Given the description of an element on the screen output the (x, y) to click on. 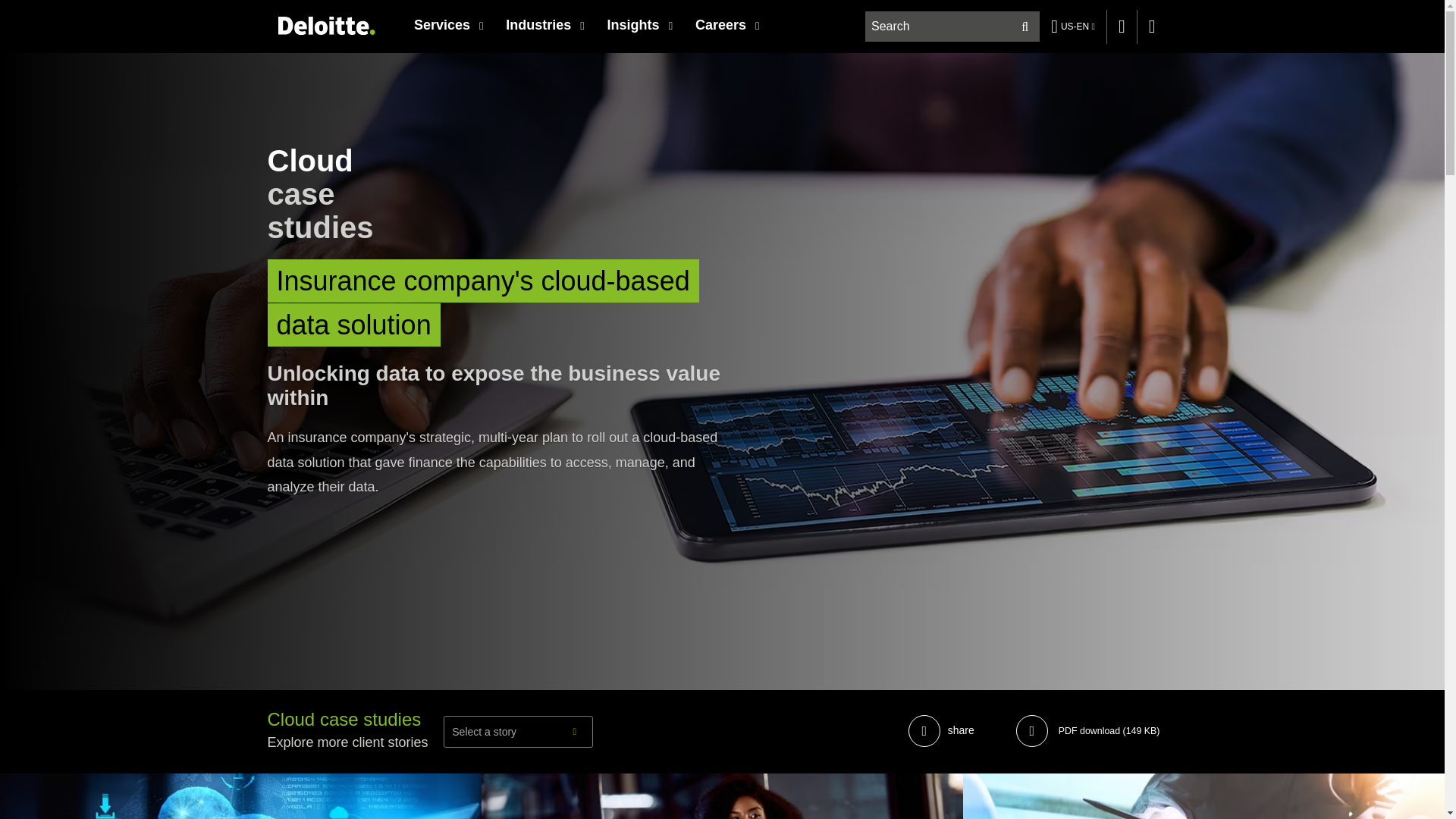
search (953, 26)
Industries (545, 24)
United States (326, 35)
Services (449, 24)
Search (1024, 26)
